Given the description of an element on the screen output the (x, y) to click on. 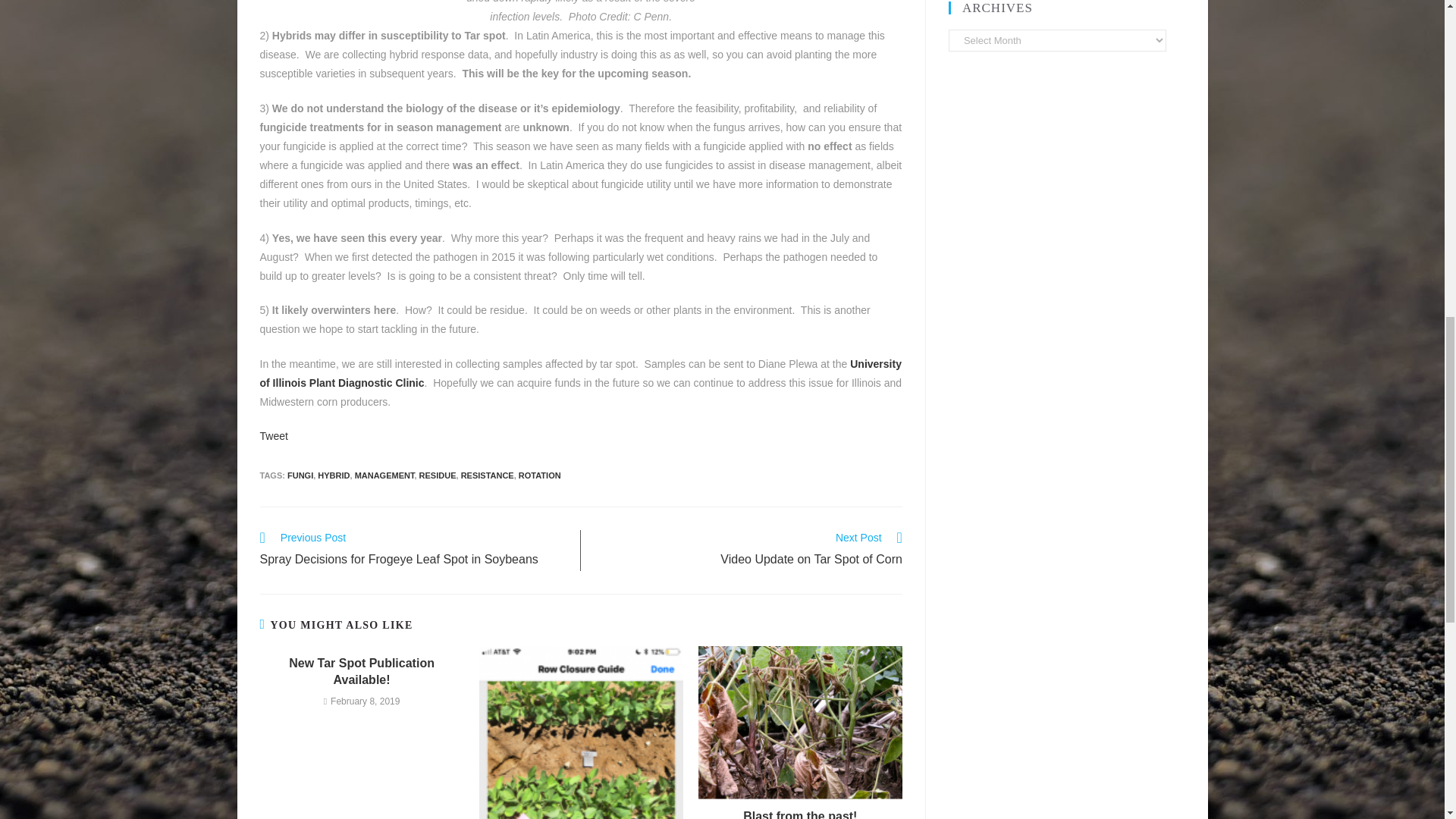
ROTATION (539, 474)
RESISTANCE (487, 474)
FUNGI (299, 474)
Blast from the past! (800, 813)
HYBRID (333, 474)
New Tar Spot Publication Available! (360, 672)
Tweet (272, 435)
University of Illinois Plant Diagnostic Clinic (580, 373)
New Tar Spot Publication Available! (748, 549)
